Given the description of an element on the screen output the (x, y) to click on. 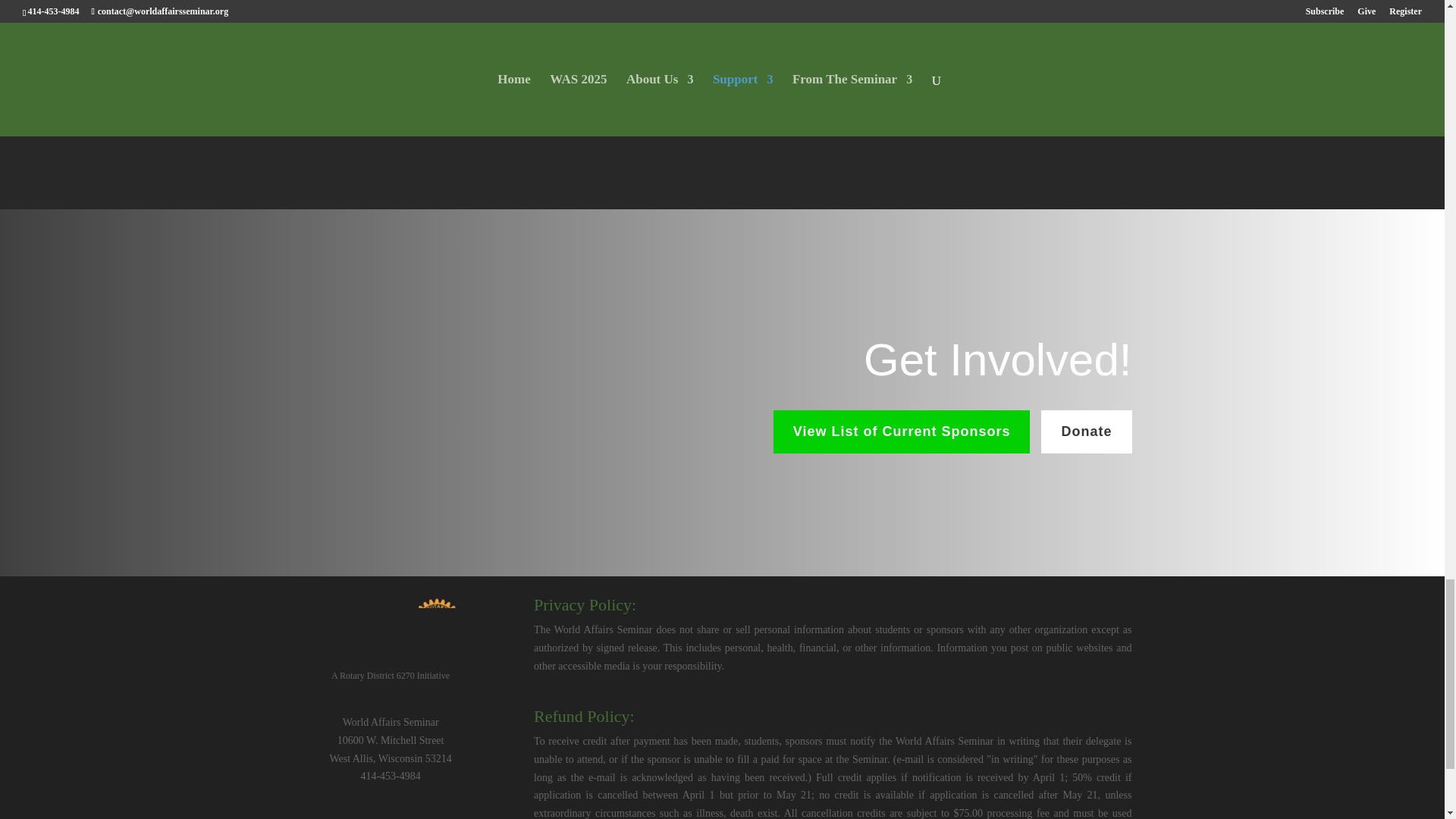
Rotary District 6270 (390, 628)
View List of Current Sponsors (901, 431)
Donate (1086, 431)
